Given the description of an element on the screen output the (x, y) to click on. 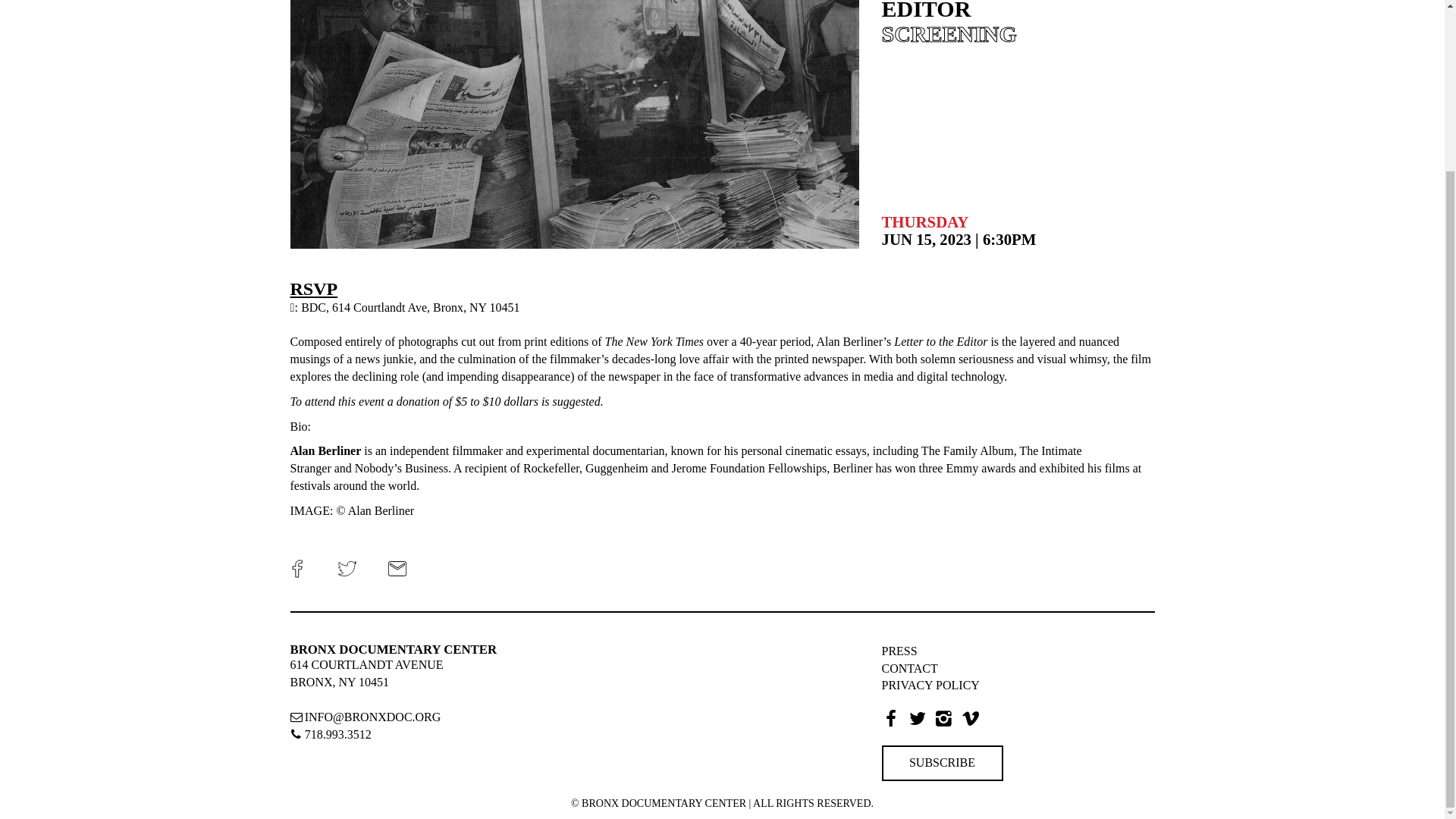
BDC Twitter Page (921, 720)
BDC Facebook Page (893, 720)
PRESS (898, 650)
BDC Vimeo Page (974, 720)
TWITTER CREATED WITH SKETCH. (346, 568)
BDC Instagram Page (947, 720)
PRIVACY POLICY (929, 684)
RSVP (313, 288)
FACEBOOK CREATED WITH SKETCH. (296, 568)
FACEBOOK CREATED WITH SKETCH. (296, 565)
CONTACT (908, 667)
TWITTER CREATED WITH SKETCH. (346, 565)
